Given the description of an element on the screen output the (x, y) to click on. 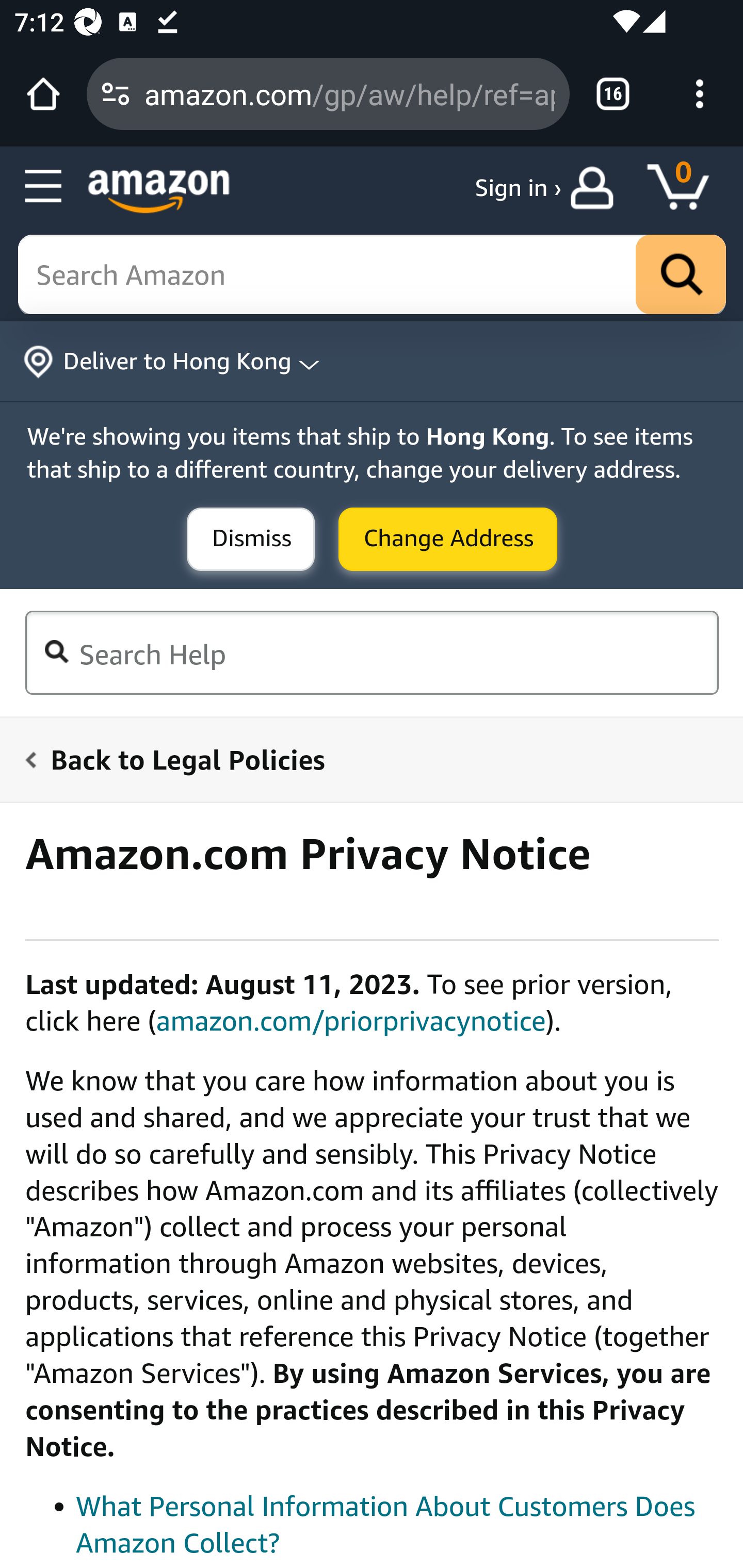
Open the home page (43, 93)
Connection is secure (115, 93)
Switch or close tabs (612, 93)
Customize and control Google Chrome (699, 93)
Open Menu (44, 187)
Sign in › (518, 188)
your account (596, 188)
Cart 0 (687, 188)
Amazon (158, 191)
Go (681, 275)
Submit (250, 539)
Submit (447, 539)
Back to Legal Policies (359, 758)
amazon.com/priorprivacynotice (350, 1020)
